Given the description of an element on the screen output the (x, y) to click on. 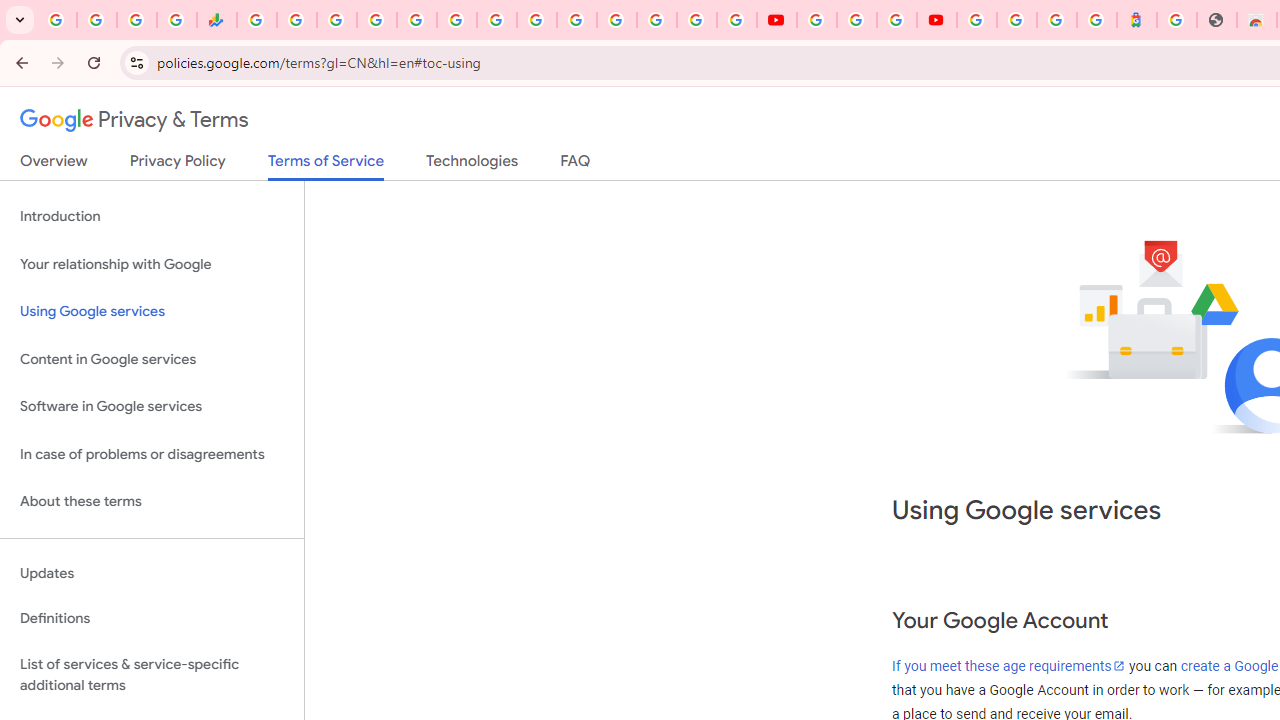
Privacy Policy (177, 165)
Android TV Policies and Guidelines - Transparency Center (497, 20)
Privacy Checkup (736, 20)
Terms of Service (326, 166)
If you meet these age requirements (1009, 665)
YouTube (536, 20)
Sign in - Google Accounts (1016, 20)
